Given the description of an element on the screen output the (x, y) to click on. 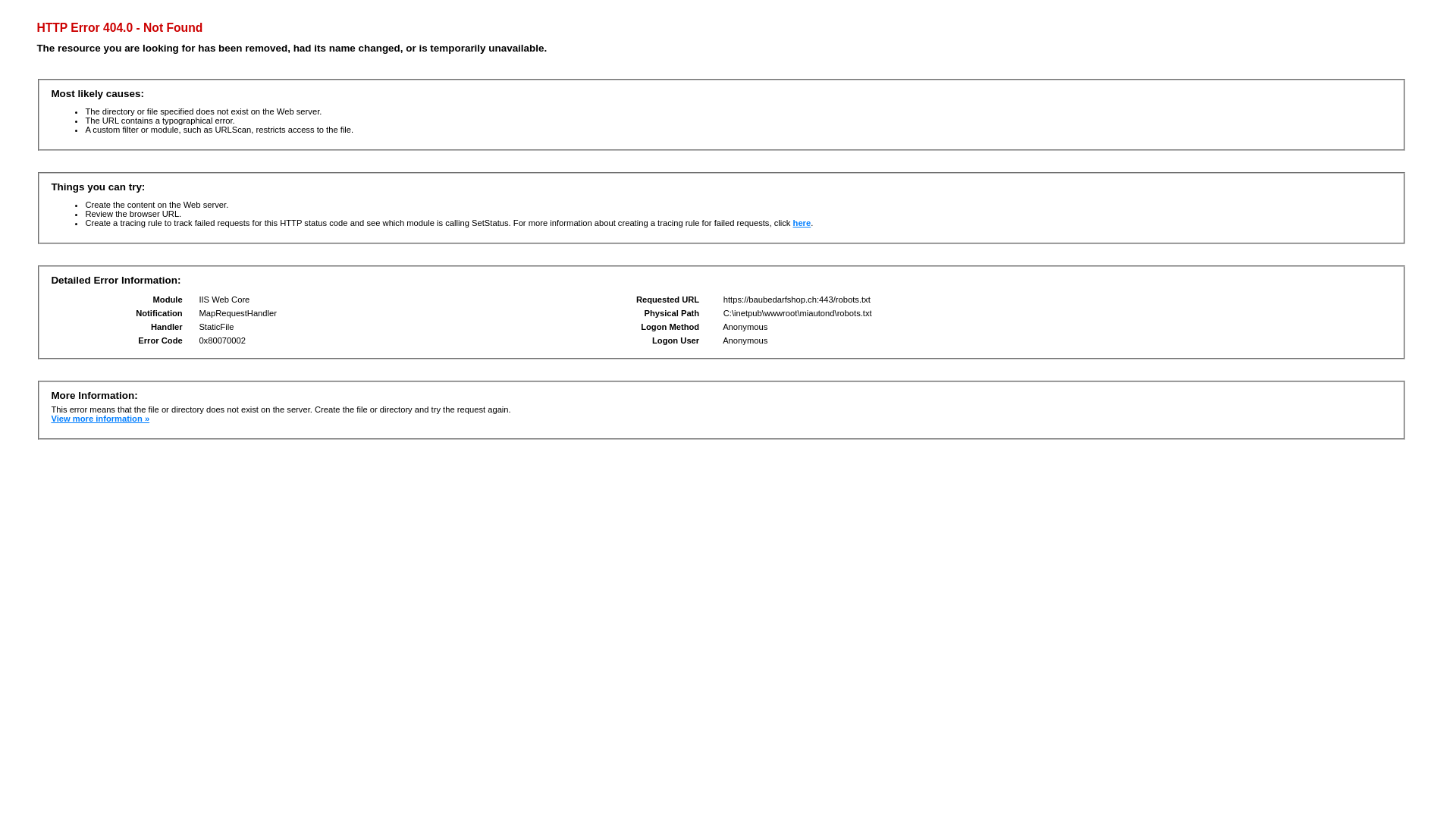
here Element type: text (802, 222)
